Given the description of an element on the screen output the (x, y) to click on. 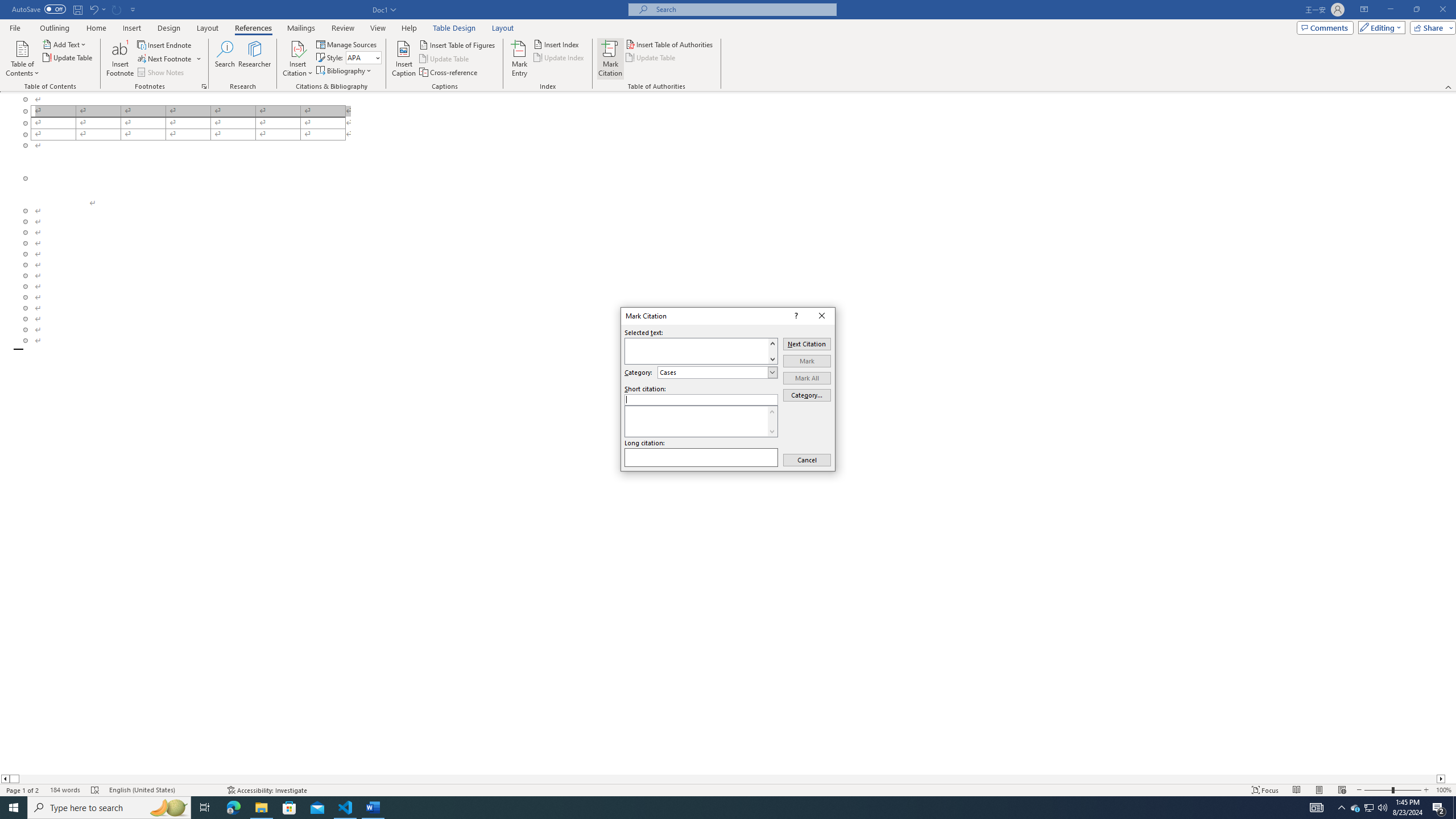
Update Index (559, 56)
Outlining (54, 28)
Insert Endnote (165, 44)
Page Number Page 1 of 2 (22, 790)
Mark Entry... (519, 58)
Insert Index... (556, 44)
Can't Repeat (117, 9)
